Given the description of an element on the screen output the (x, y) to click on. 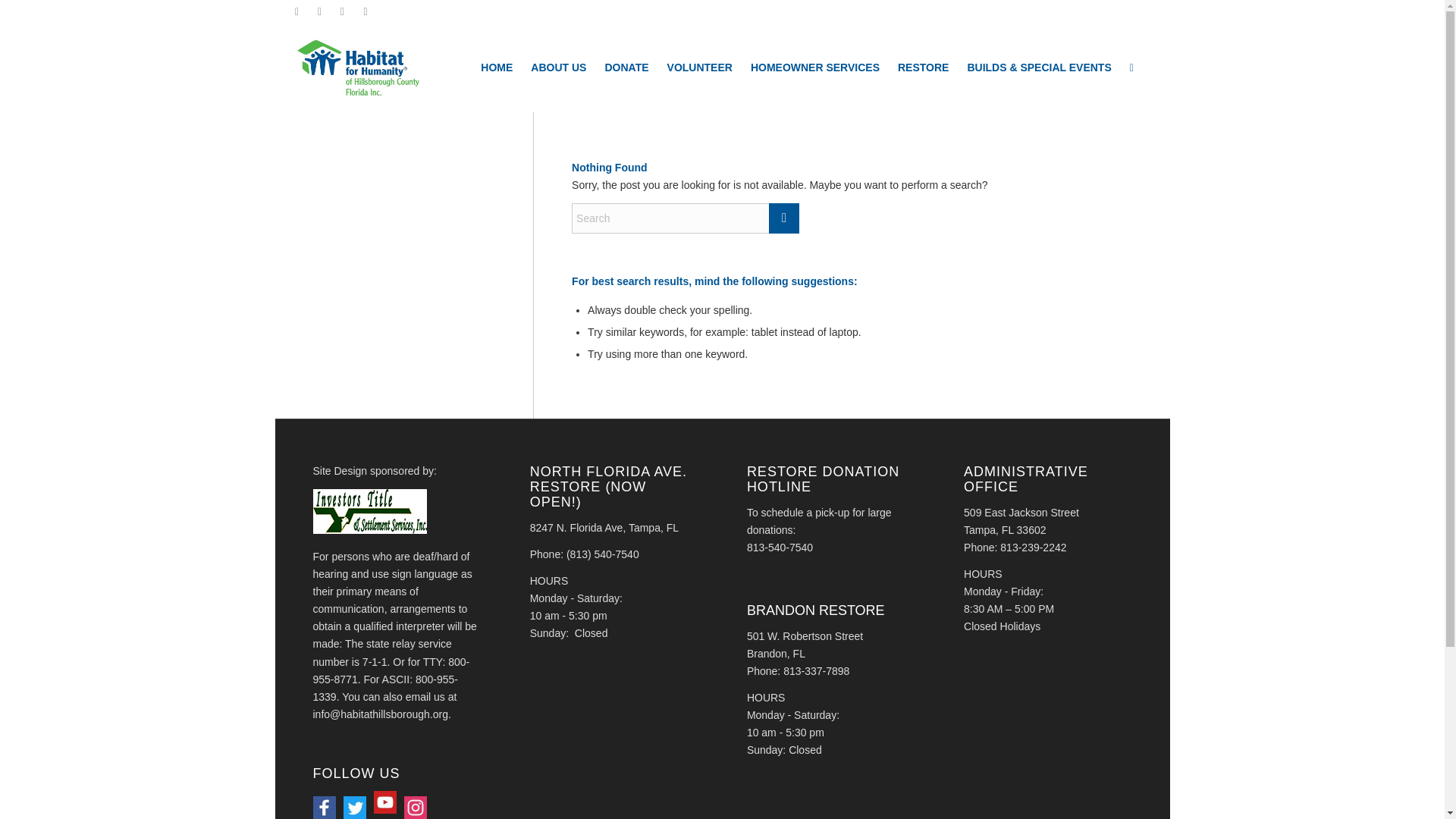
Facebook (319, 11)
Instagram (365, 11)
X (296, 11)
HOMEOWNER SERVICES (815, 67)
Youtube (342, 11)
Click to start search (783, 218)
